Given the description of an element on the screen output the (x, y) to click on. 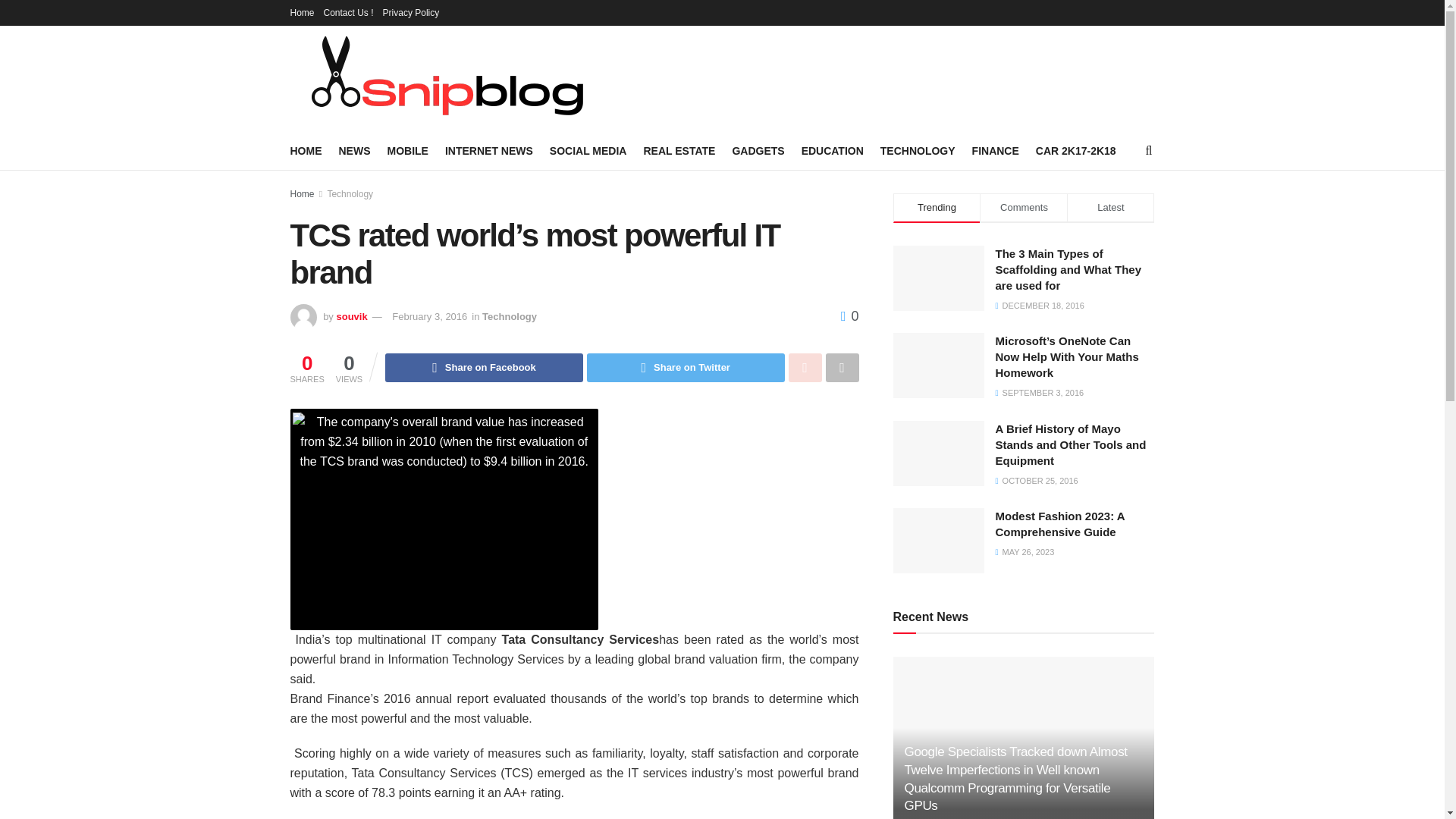
EDUCATION (832, 150)
TECHNOLOGY (917, 150)
Technology (349, 194)
INTERNET NEWS (488, 150)
HOME (305, 150)
Contact Us ! (348, 12)
REAL ESTATE (678, 150)
NEWS (353, 150)
0 (850, 315)
Home (301, 12)
